Given the description of an element on the screen output the (x, y) to click on. 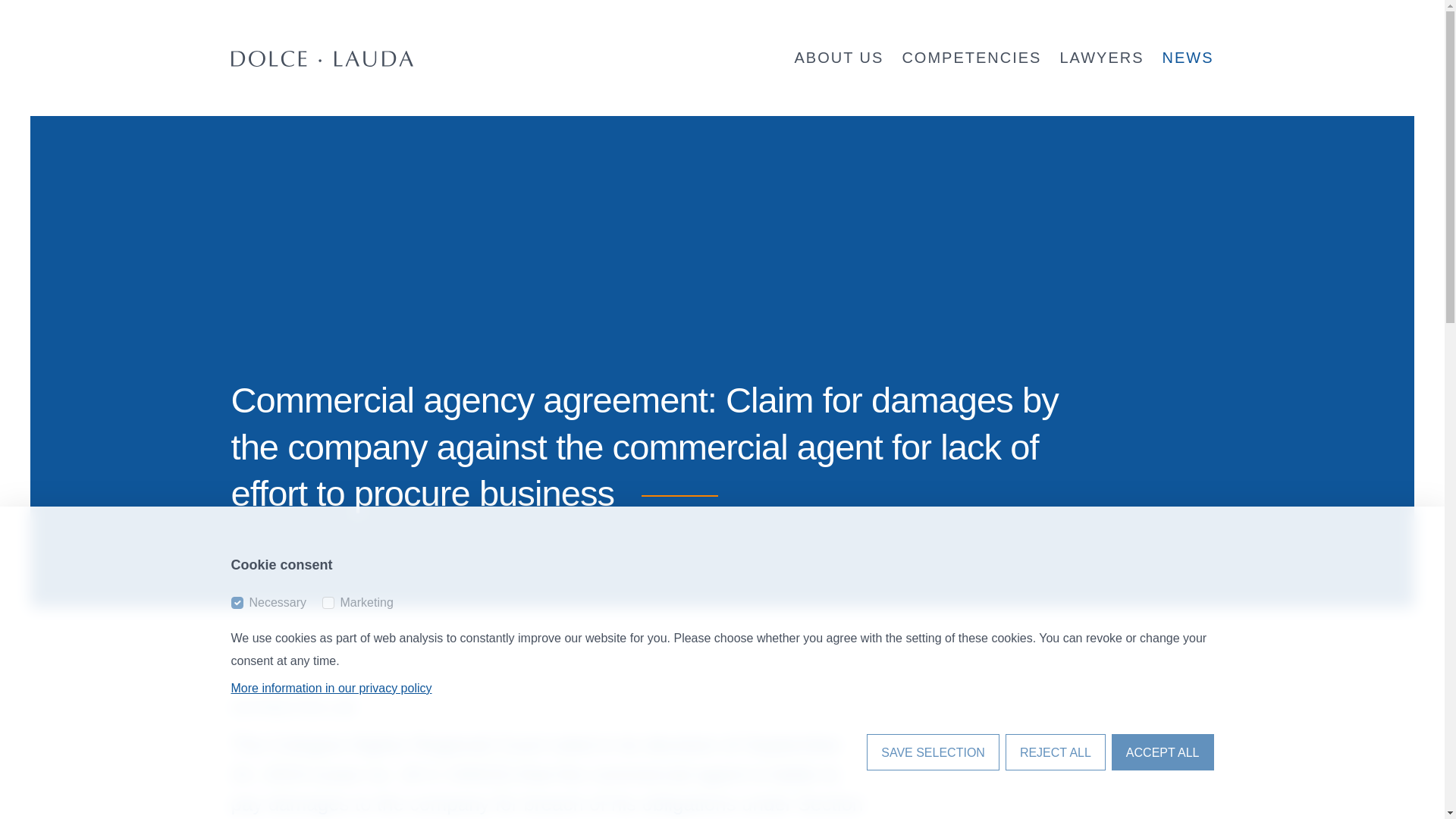
ABOUT US (838, 57)
NEWS (1186, 57)
Return to homepage (321, 58)
group-1 (236, 603)
group-4 (327, 603)
REJECT ALL (1055, 751)
ACCEPT ALL (1163, 751)
COMPETENCIES (971, 57)
More information in our privacy policy (330, 687)
SAVE SELECTION (932, 751)
